Given the description of an element on the screen output the (x, y) to click on. 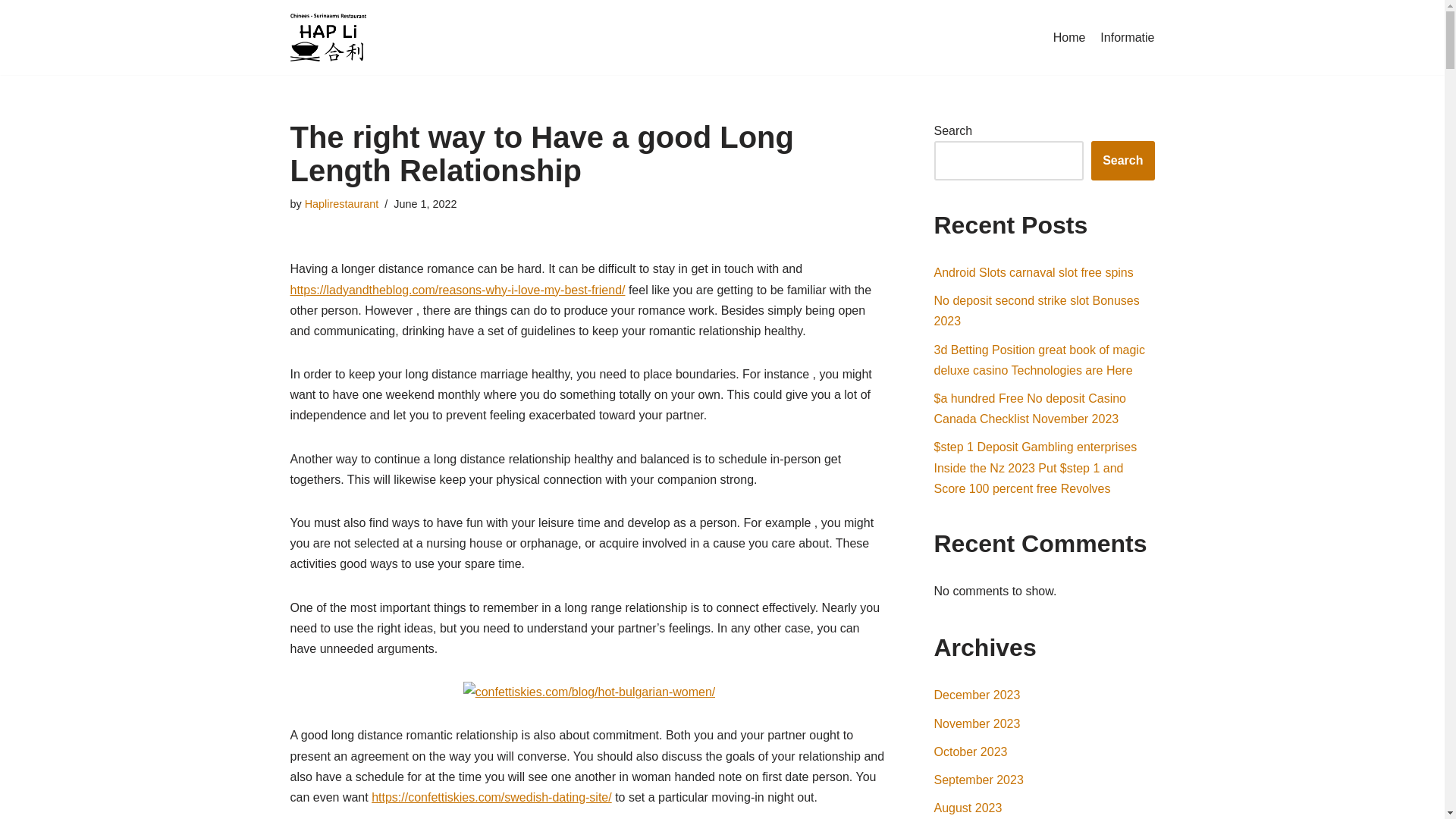
Android Slots carnaval slot free spins (1034, 272)
Hapli Restaurant (330, 37)
Search (1122, 160)
No deposit second strike slot Bonuses 2023 (1037, 310)
December 2023 (977, 694)
August 2023 (968, 807)
Home (1069, 37)
October 2023 (970, 751)
September 2023 (978, 779)
Skip to content (11, 31)
